Given the description of an element on the screen output the (x, y) to click on. 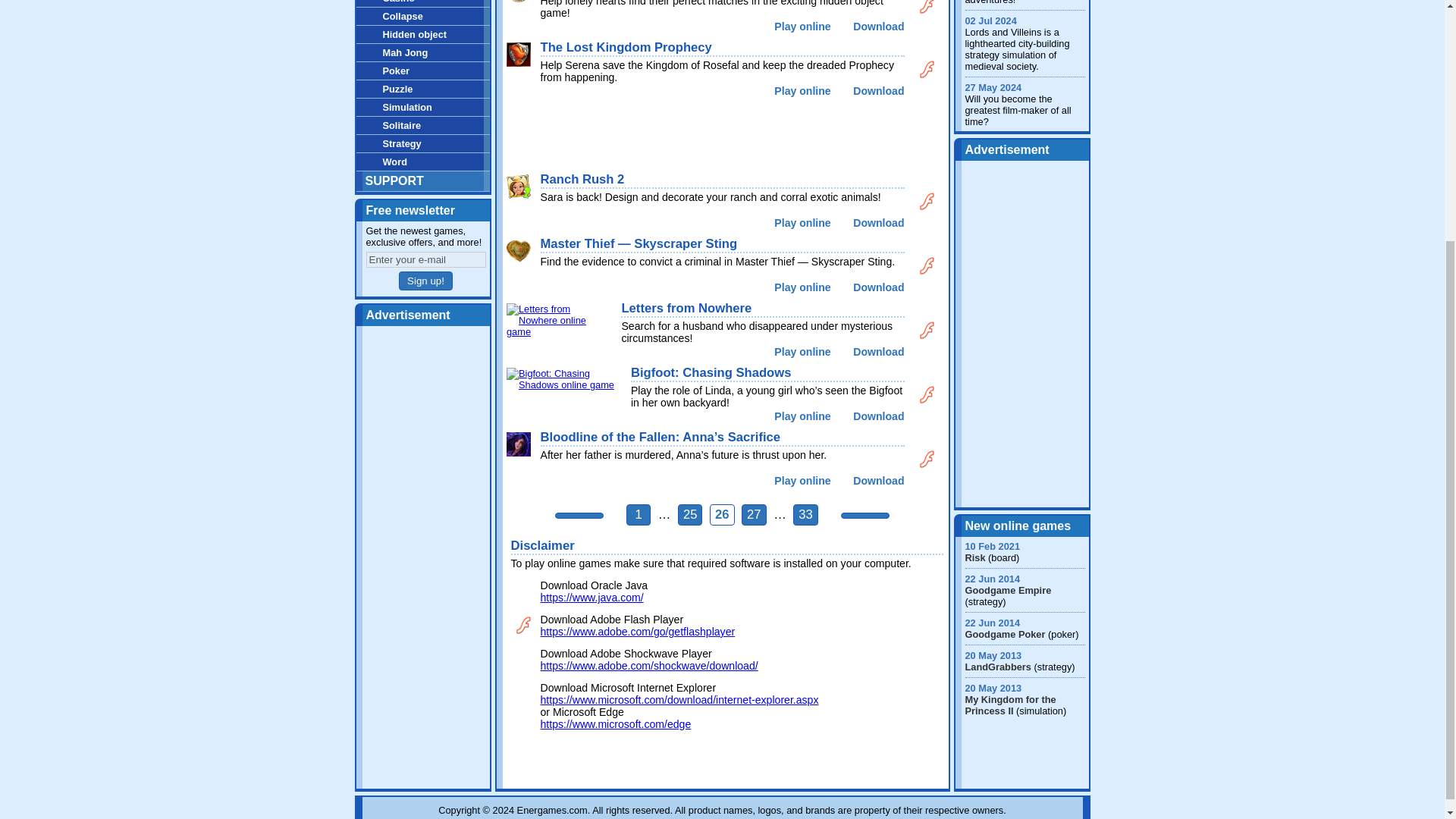
Word (422, 161)
Download (878, 26)
Casino (422, 3)
Strategy (422, 143)
Poker (422, 70)
SUPPORT (422, 180)
Mah Jong (422, 52)
Hidden object (422, 34)
Sign up! (425, 280)
Simulation (422, 107)
